Given the description of an element on the screen output the (x, y) to click on. 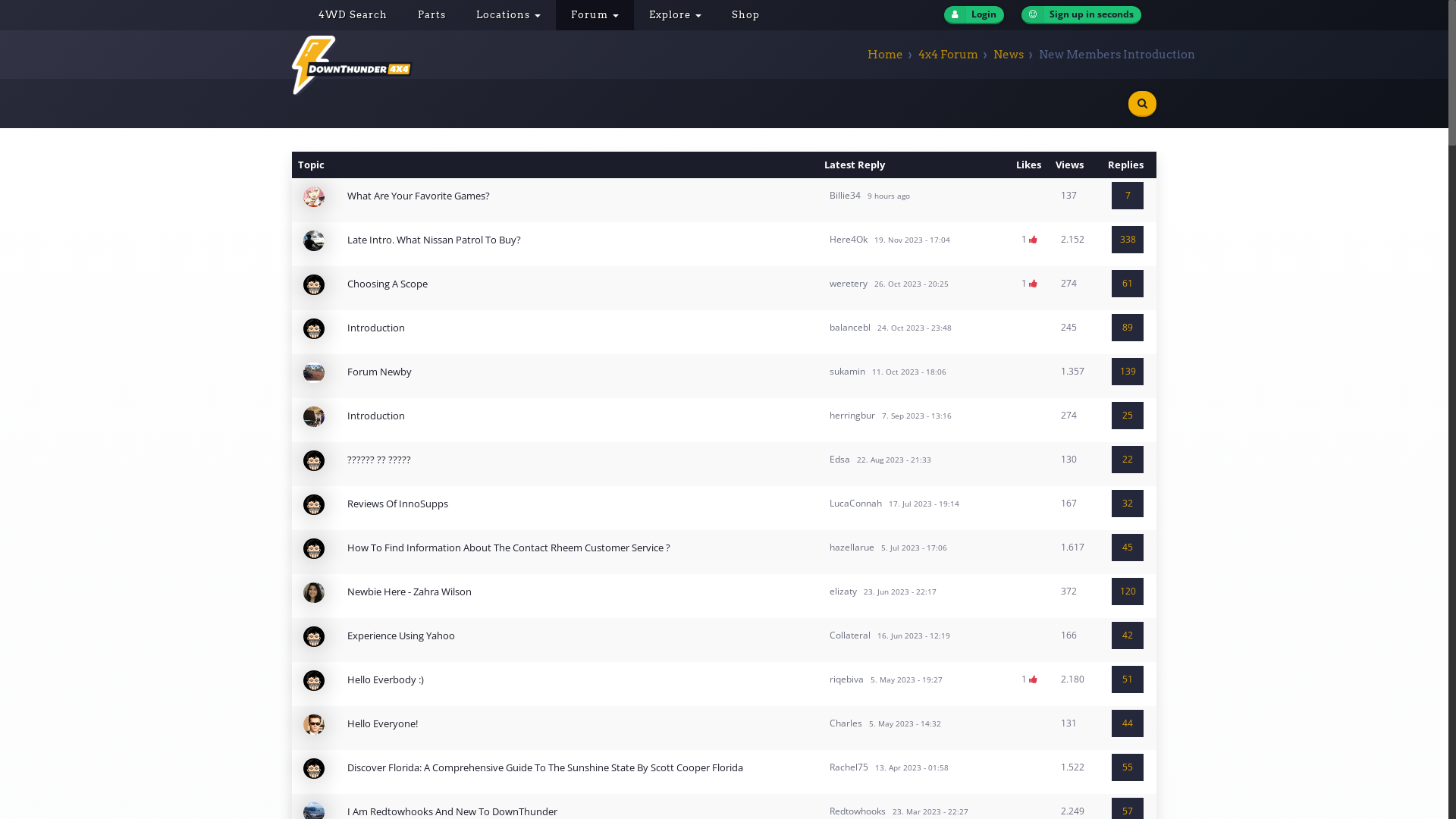
Experience Using Yahoo Element type: text (401, 635)
Locations Element type: text (508, 15)
Likes Element type: hover (1033, 283)
Hello Everbody :) Element type: text (385, 679)
News Element type: text (1008, 54)
I Am Redtowhooks And New To DownThunder Element type: text (452, 811)
Forum Element type: text (594, 15)
Login Element type: text (974, 15)
Shop Element type: text (745, 15)
4x4 Forum Element type: text (948, 54)
What Are Your Favorite Games? Element type: text (418, 195)
Parts Element type: text (431, 15)
Likes Element type: hover (1033, 679)
4WD Search Element type: text (352, 15)
Reviews Of InnoSupps Element type: text (397, 503)
Newbie Here - Zahra Wilson Element type: text (409, 591)
Choosing A Scope Element type: text (387, 283)
Home Element type: text (885, 54)
Hello Everyone! Element type: text (382, 723)
Likes Element type: hover (1033, 239)
Introduction Element type: text (375, 415)
?????? ?? ????? Element type: text (379, 459)
Sign up in seconds Element type: text (1081, 15)
Explore Element type: text (674, 15)
Forum Newby Element type: text (379, 371)
Late Intro. What Nissan Patrol To Buy? Element type: text (433, 239)
Introduction Element type: text (375, 327)
